Given the description of an element on the screen output the (x, y) to click on. 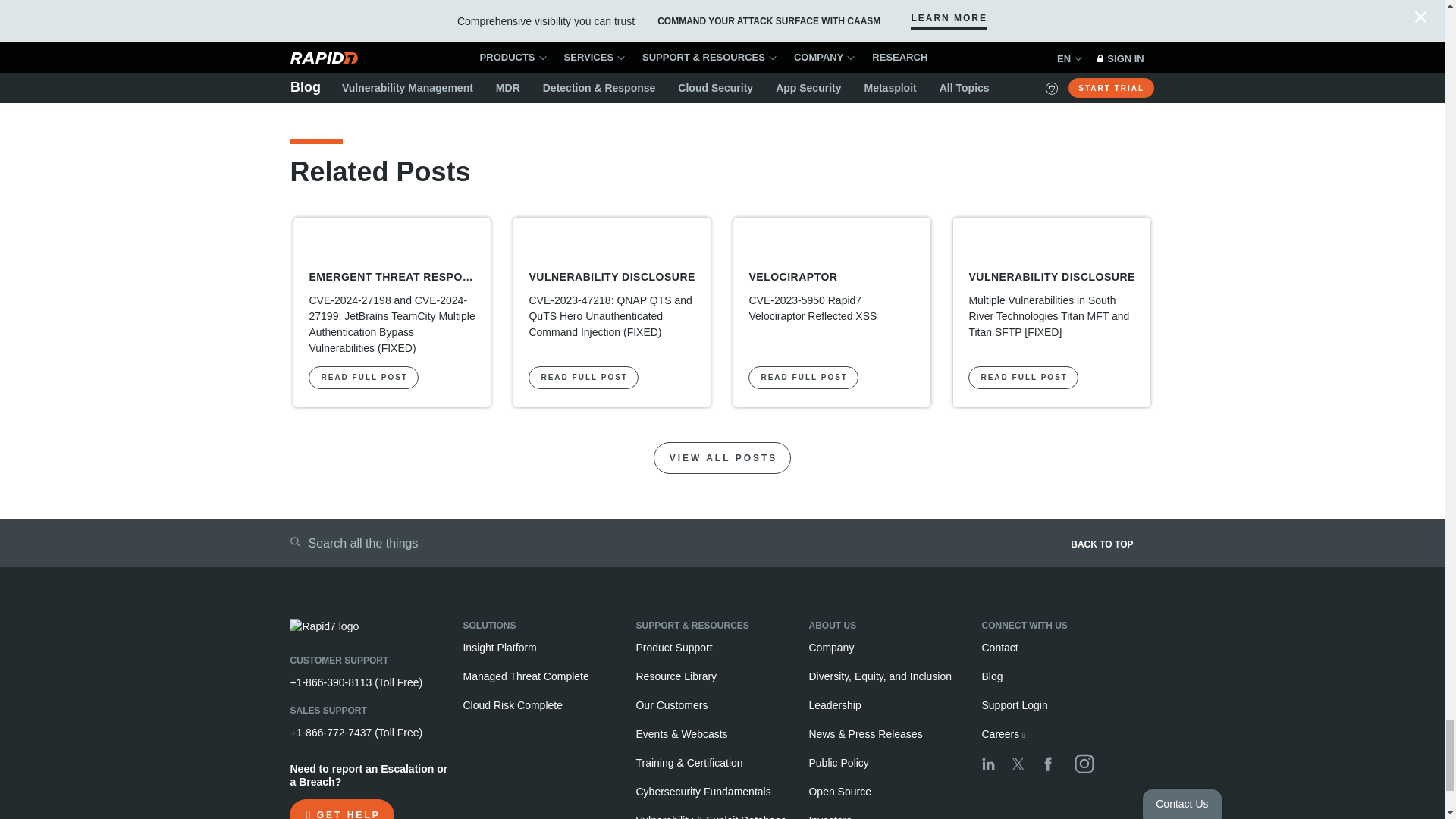
BACK TO TOP (949, 549)
Submit Search (294, 541)
Submit Search (294, 541)
